Given the description of an element on the screen output the (x, y) to click on. 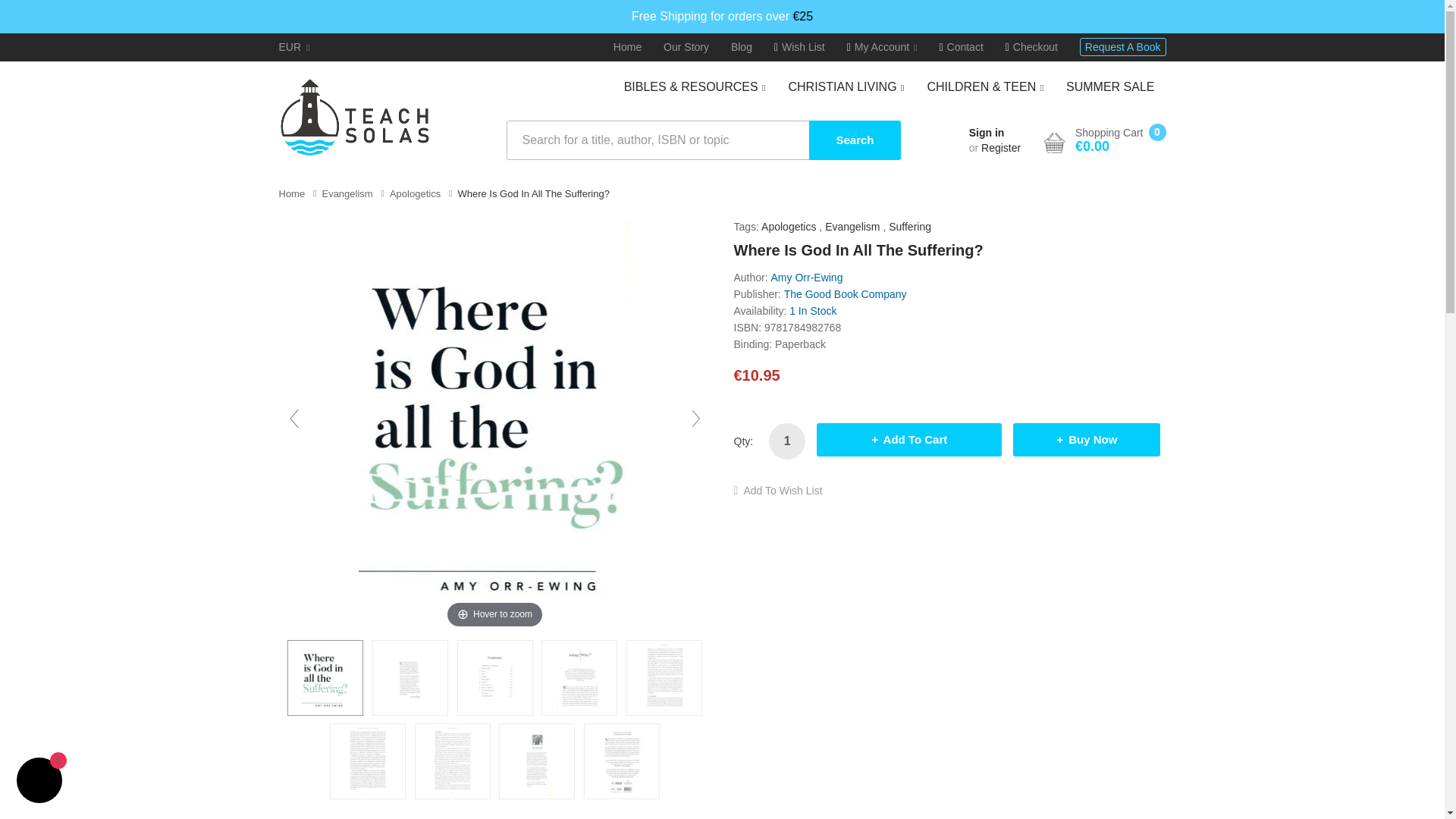
Where is God in all the Suffering? (579, 677)
Wish List (799, 47)
My Account (882, 47)
Request A Book (1123, 47)
Contact (960, 47)
The Good Book Company (845, 294)
Contact (960, 47)
1 (786, 441)
Where is God in all the Suffering? (452, 761)
Where is God in all the Suffering? (663, 677)
Apologetics (415, 193)
Our Story (686, 47)
Checkout (1032, 47)
Where is God in all the Suffering? (494, 677)
Home (627, 47)
